Given the description of an element on the screen output the (x, y) to click on. 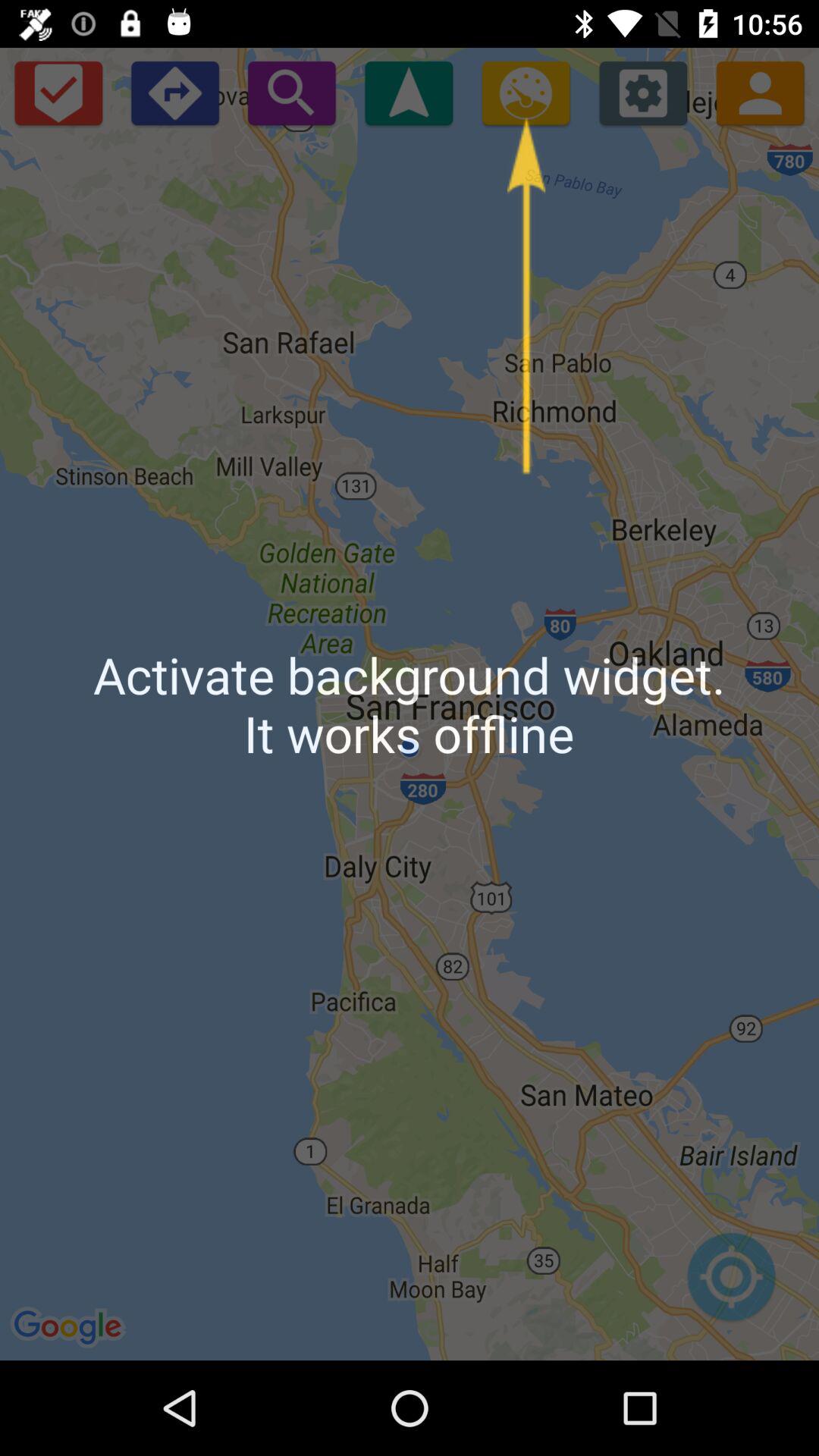
the arrow mark (408, 92)
